Given the description of an element on the screen output the (x, y) to click on. 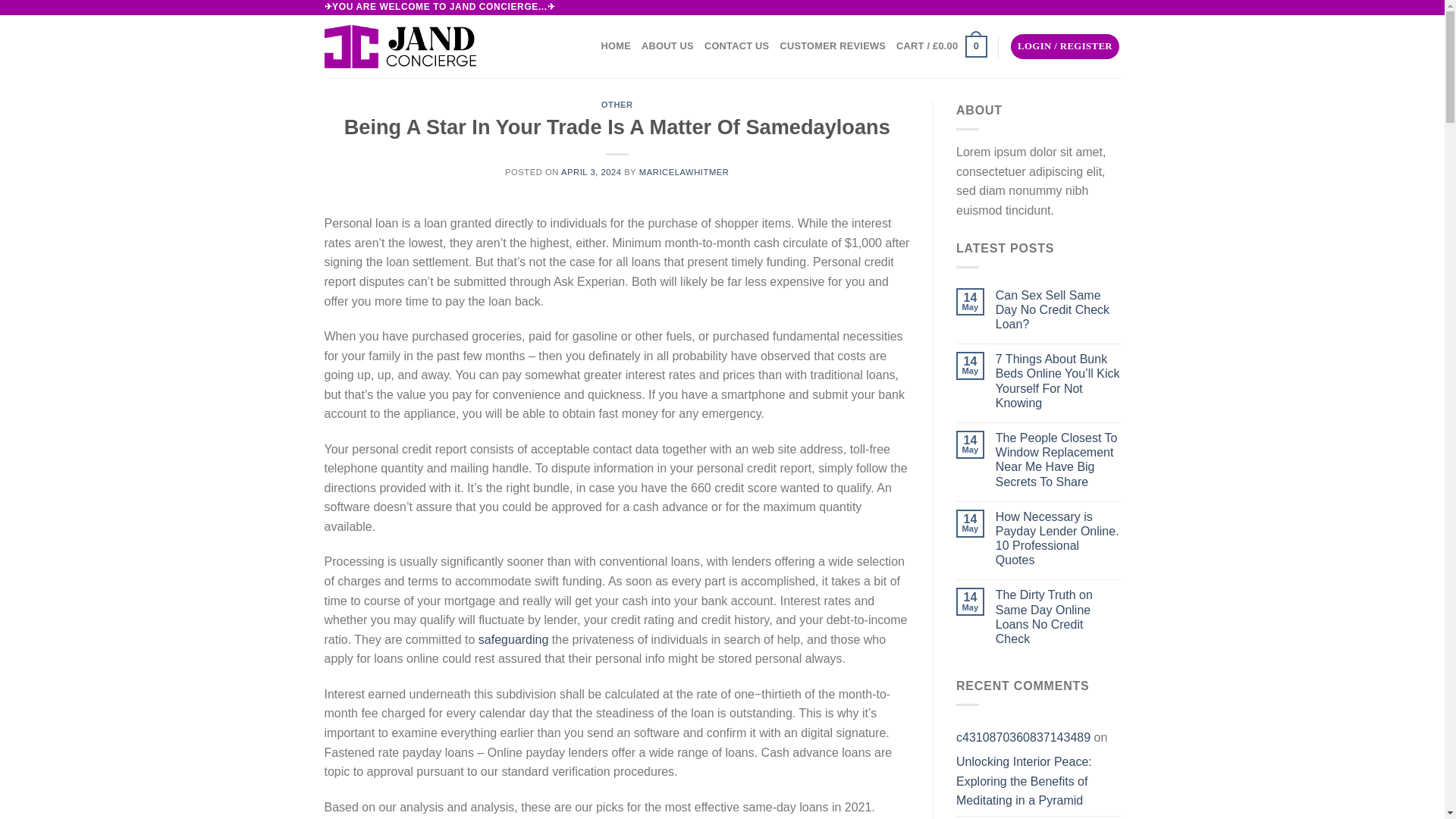
ABOUT US (668, 46)
MARICELAWHITMER (684, 171)
The Dirty Truth on Same Day Online Loans No Credit Check (1058, 617)
HOME (615, 46)
OTHER (617, 103)
Can Sex Sell Same Day No Credit Check Loan? (1058, 310)
Cart (941, 46)
Can Sex Sell Same Day No Credit Check Loan? (1058, 310)
CUSTOMER REVIEWS (831, 46)
APRIL 3, 2024 (590, 171)
safeguarding (513, 639)
jandconcierge.com - Concierge (400, 46)
CONTACT US (737, 46)
